Given the description of an element on the screen output the (x, y) to click on. 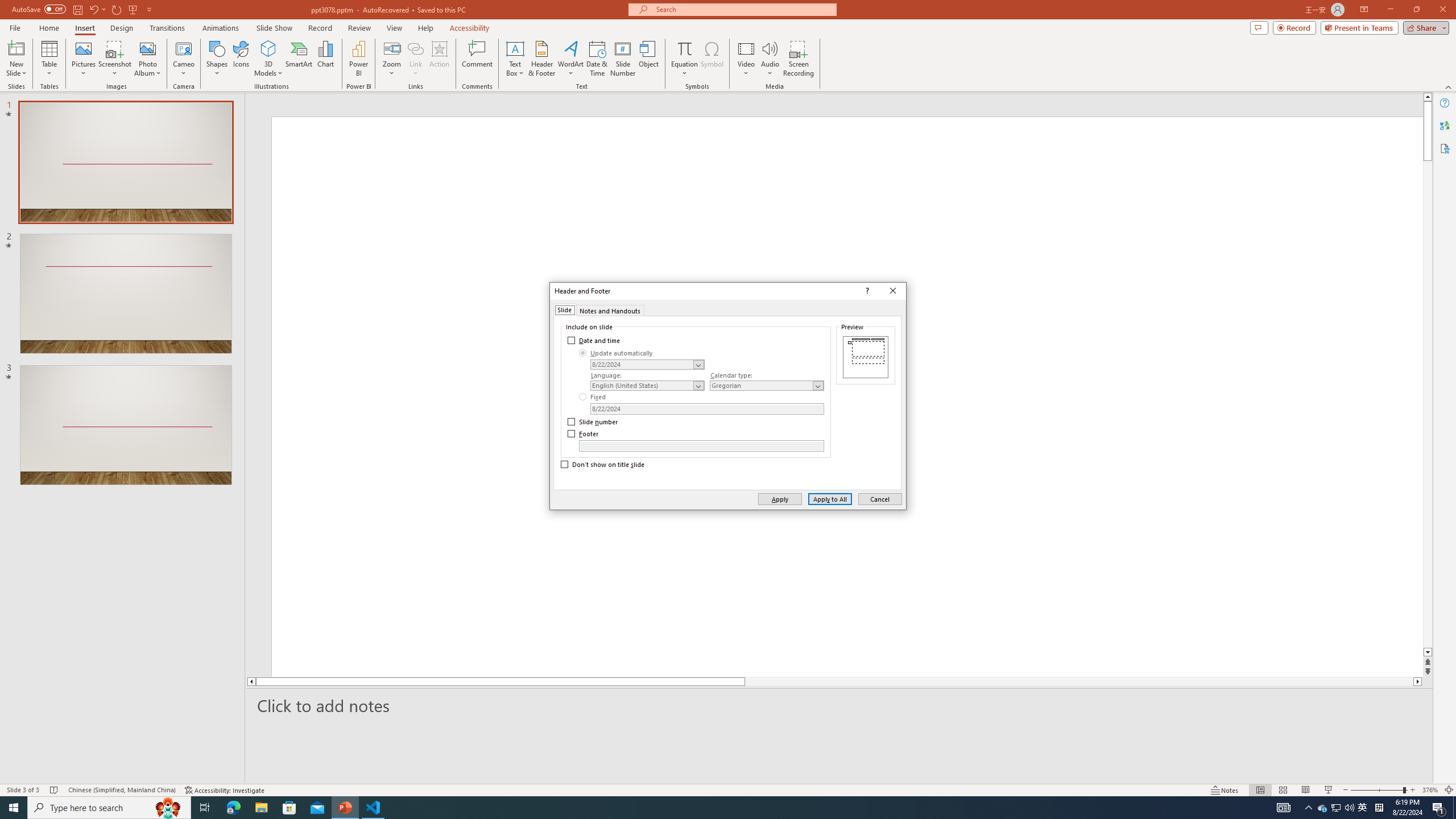
Don't show on title slide (602, 464)
WordArt (570, 58)
Link (415, 58)
Table (49, 58)
Zoom 376% (1430, 790)
